Given the description of an element on the screen output the (x, y) to click on. 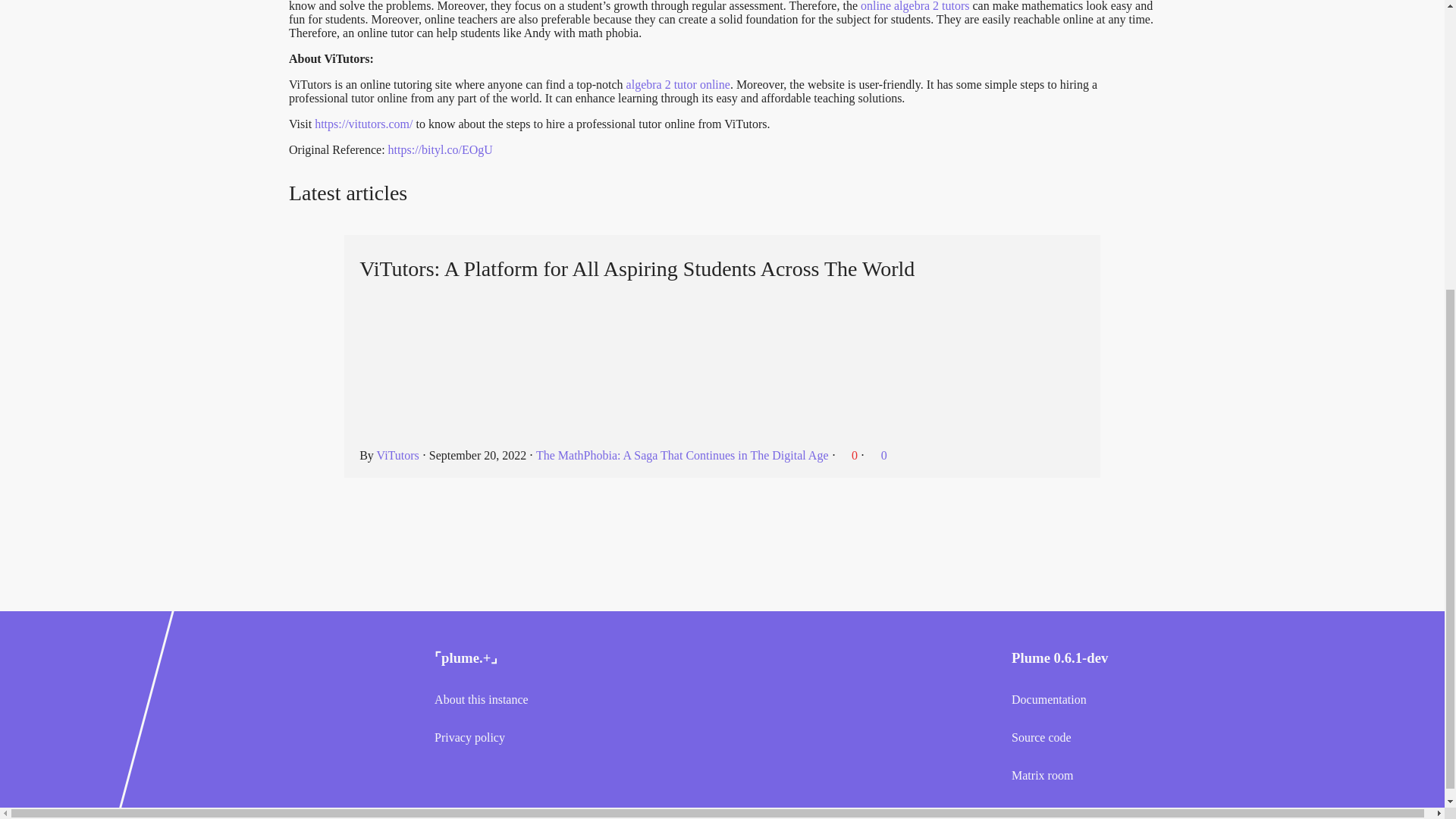
Documentation (1155, 699)
The MathPhobia: A Saga That Continues in The Digital Age (681, 454)
Source code (1155, 737)
algebra 2 tutor online (678, 83)
0 likes (849, 454)
0 boosts (876, 454)
Privacy policy (578, 737)
ViTutors (398, 454)
About this instance (578, 699)
Atom feed (437, 194)
online algebra 2 tutors (914, 6)
Matrix room (1155, 775)
